Given the description of an element on the screen output the (x, y) to click on. 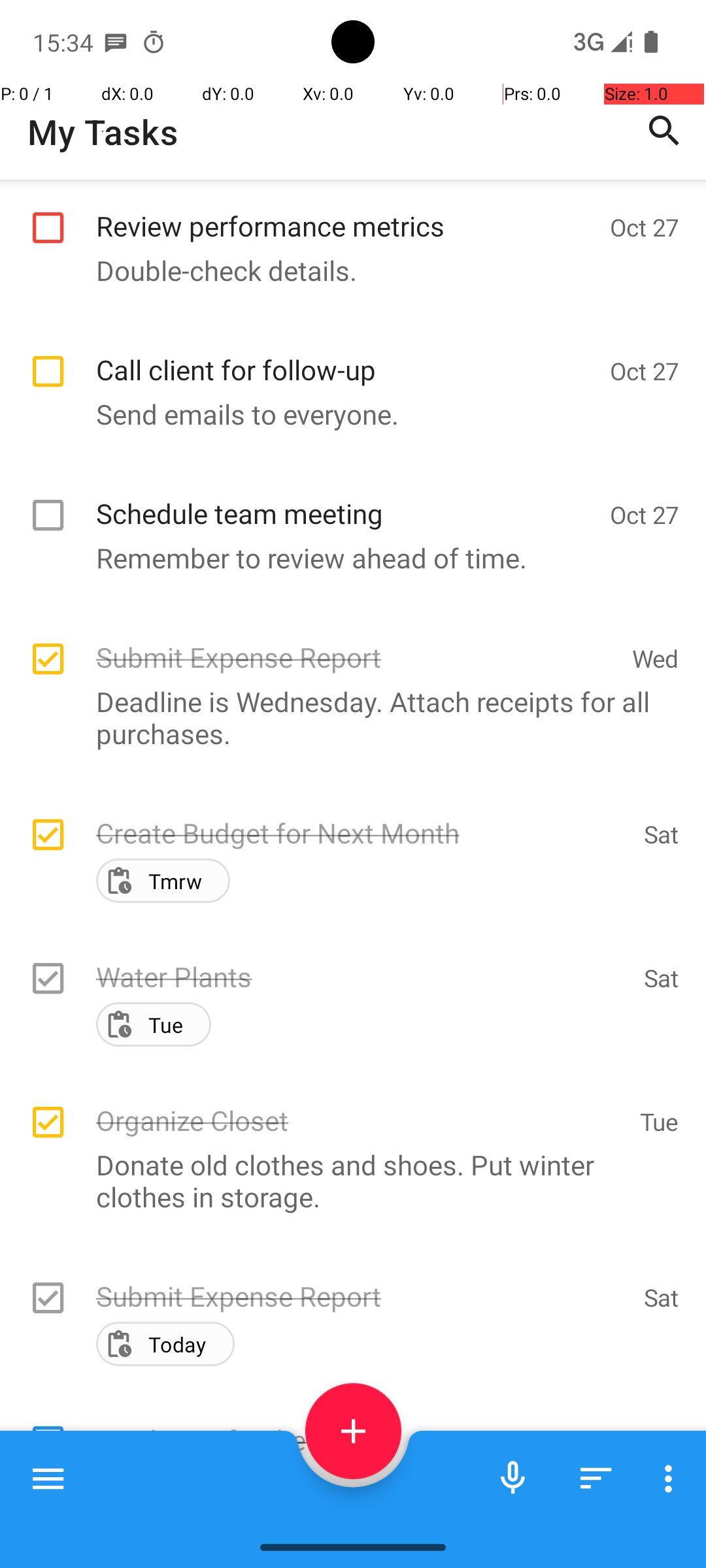
Oct 27 Element type: android.widget.TextView (644, 226)
Call client for follow-up Element type: android.widget.TextView (346, 355)
Send emails to everyone. Element type: android.widget.TextView (346, 413)
Schedule team meeting Element type: android.widget.TextView (346, 499)
Remember to review ahead of time. Element type: android.widget.TextView (346, 557)
